Given the description of an element on the screen output the (x, y) to click on. 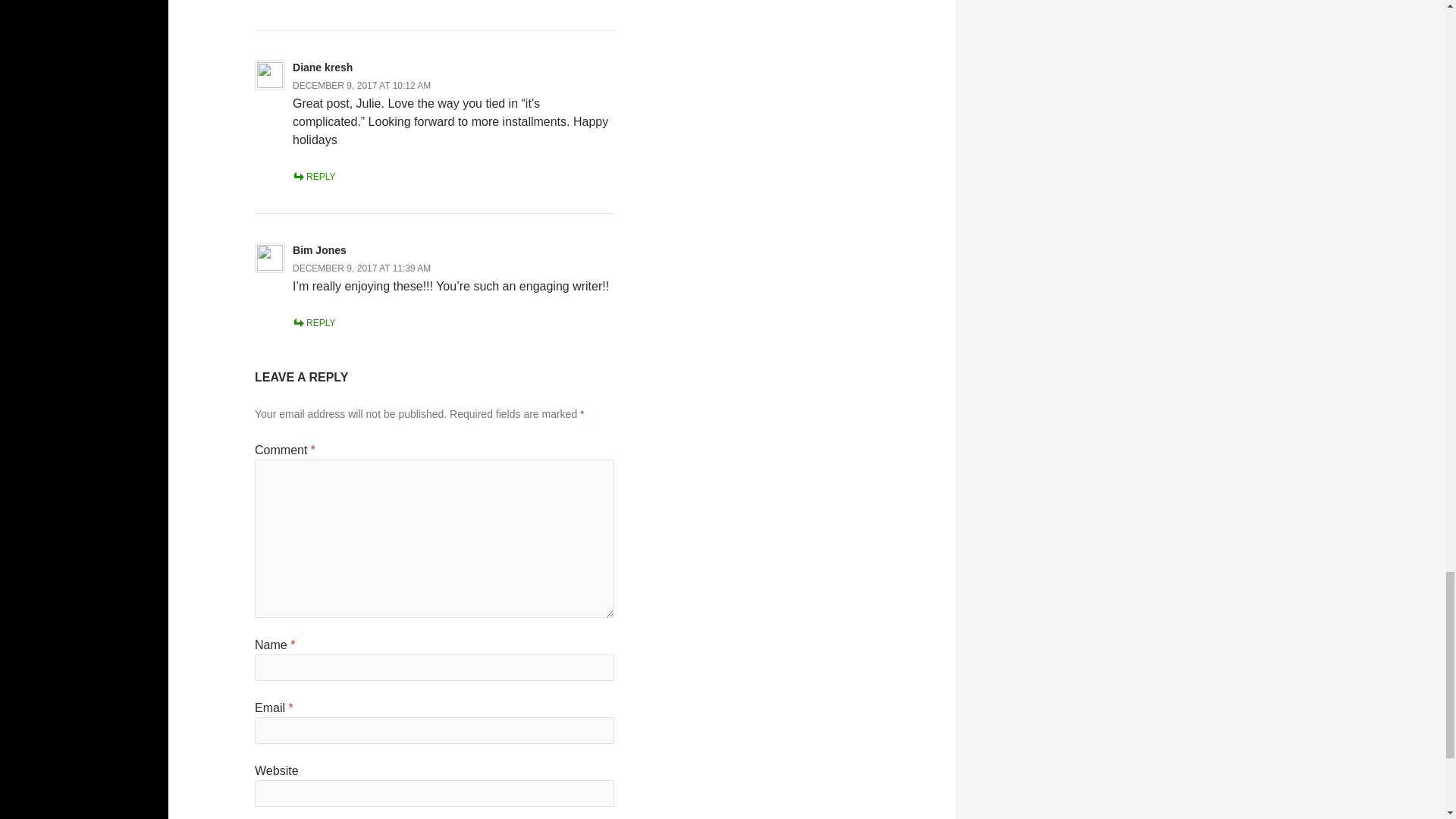
REPLY (313, 322)
DECEMBER 9, 2017 AT 11:39 AM (361, 267)
DECEMBER 9, 2017 AT 10:12 AM (361, 85)
REPLY (313, 176)
